Given the description of an element on the screen output the (x, y) to click on. 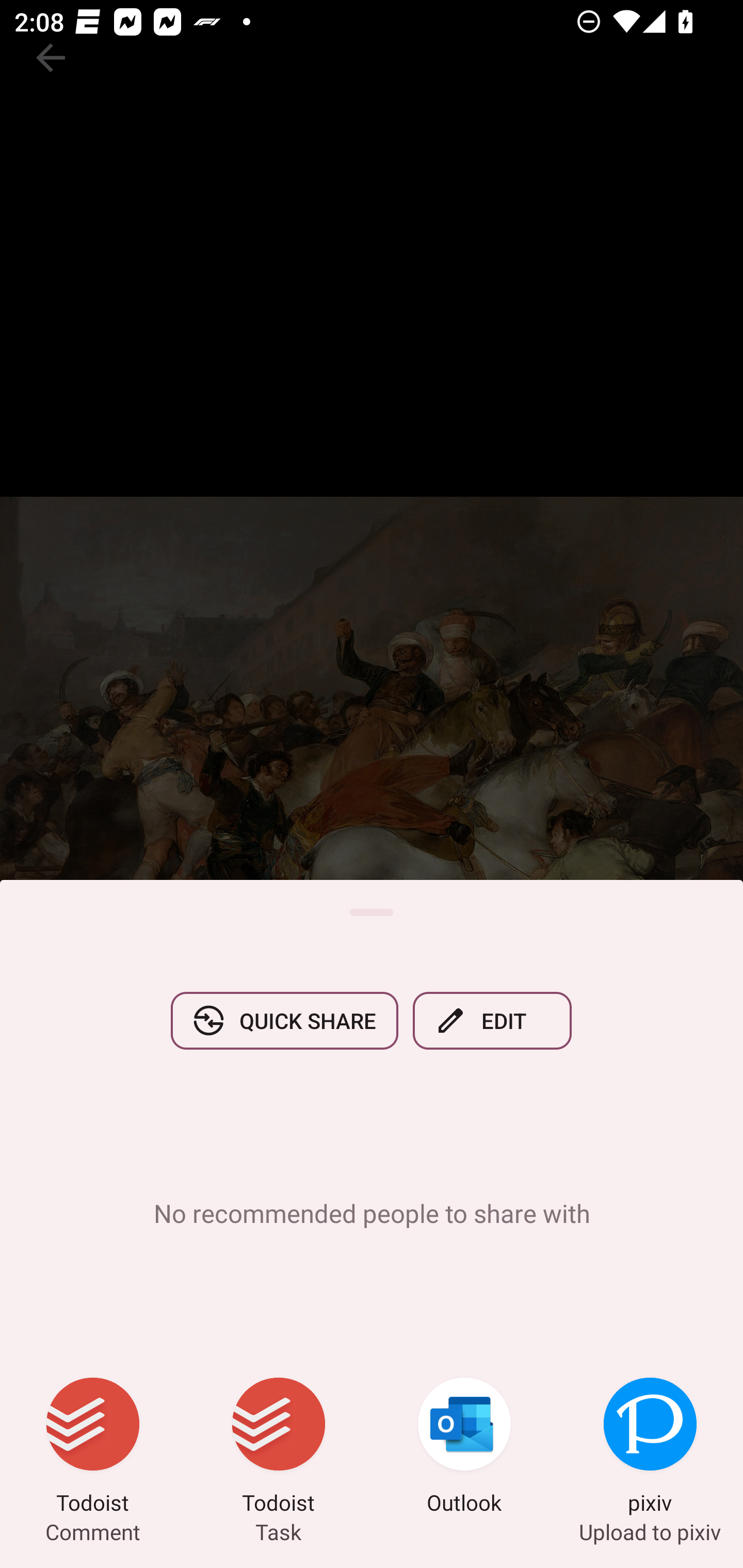
QUICK SHARE (284, 1020)
EDIT (492, 1020)
Todoist Comment (92, 1448)
Todoist Task (278, 1448)
Outlook (464, 1448)
pixiv Upload to pixiv (650, 1448)
